Given the description of an element on the screen output the (x, y) to click on. 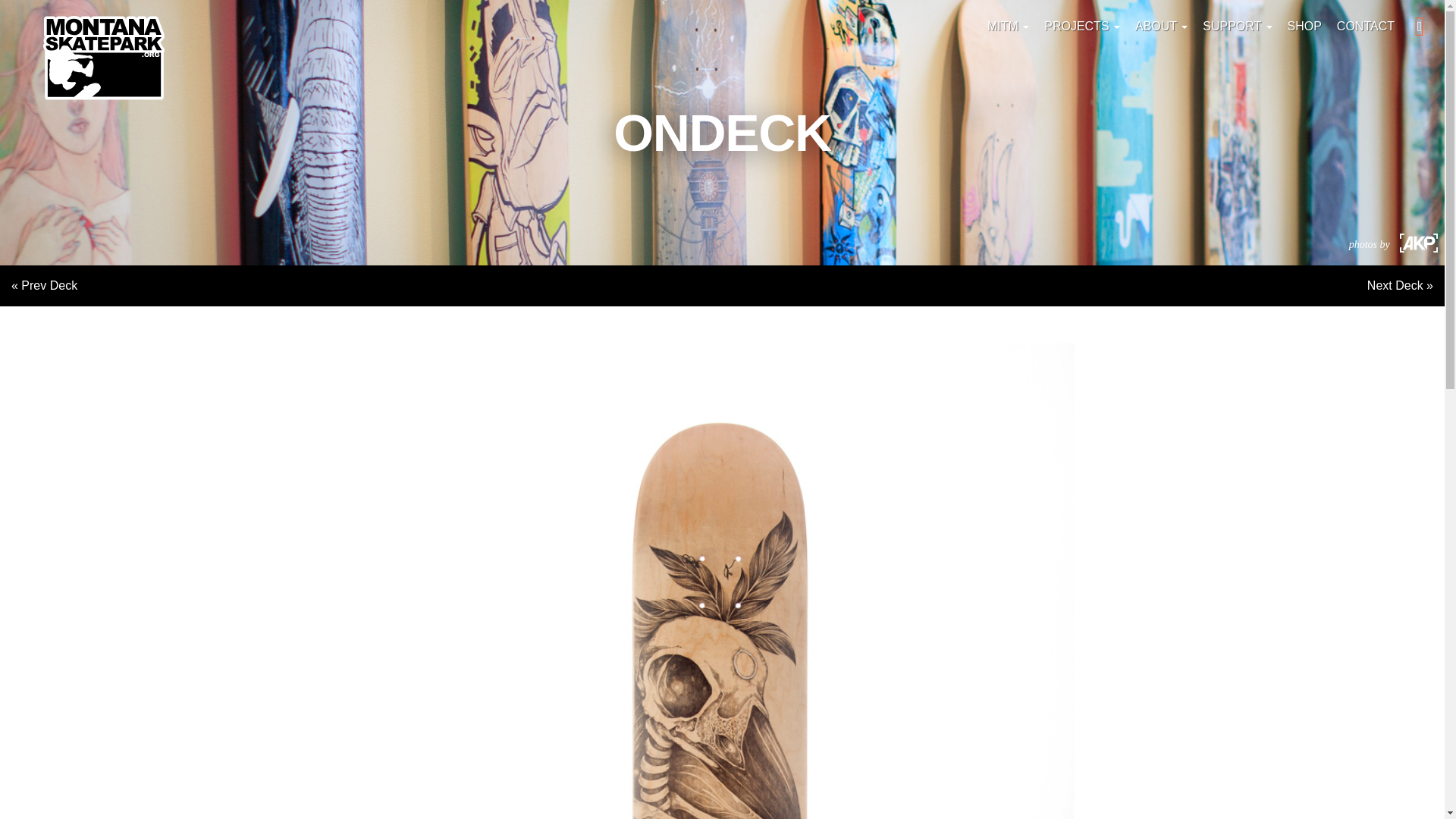
CONTACT (1365, 26)
MITM (1007, 26)
Projects (1081, 26)
Toggle social (1419, 26)
Montana Skatepark Association Logo (103, 57)
PROJECTS (1081, 26)
About (1160, 26)
Support (1237, 26)
SHOP (1304, 26)
MITM (1007, 26)
ABOUT (1160, 26)
SUPPORT (1237, 26)
